Given the description of an element on the screen output the (x, y) to click on. 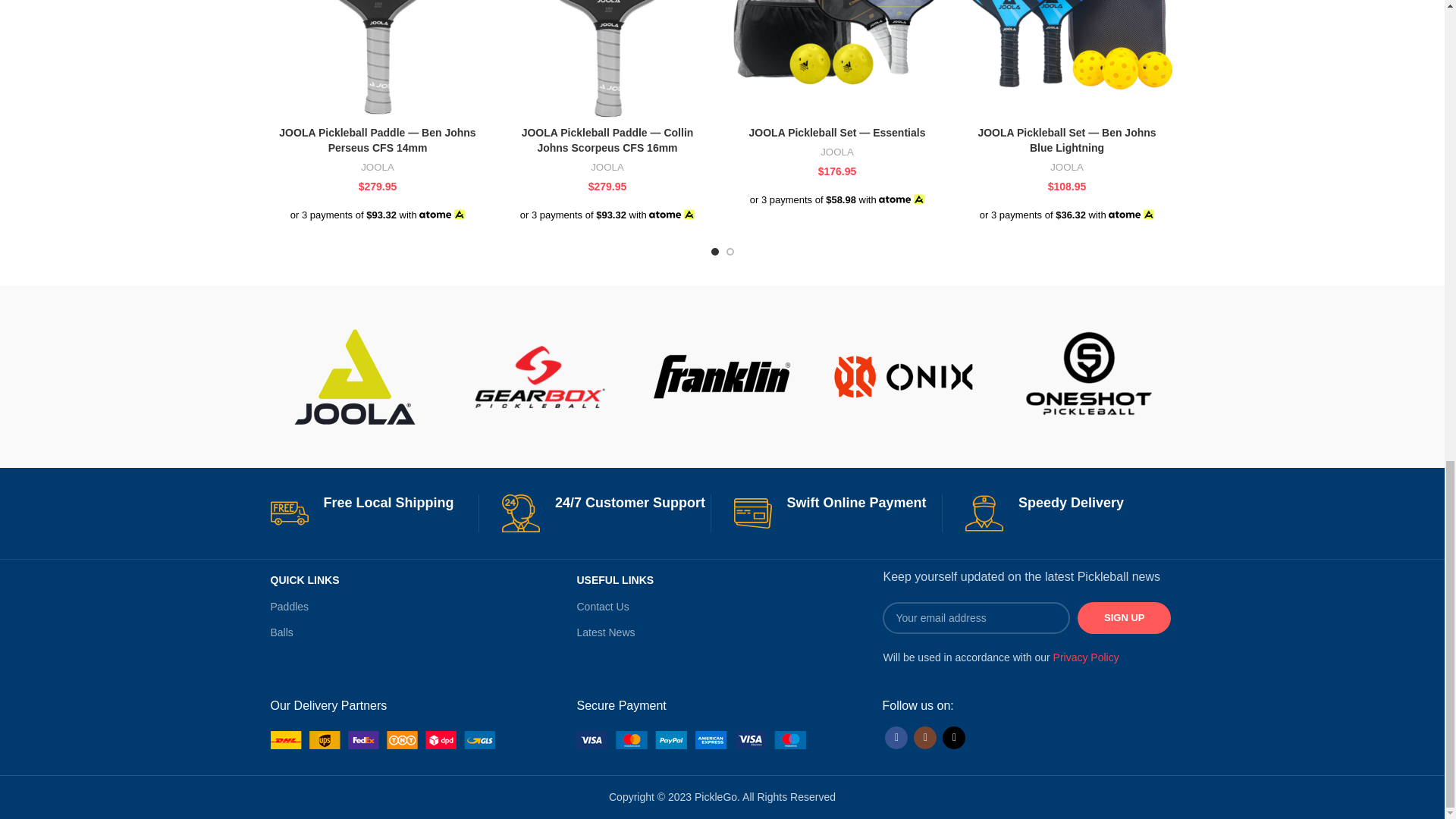
gearbox-logo (538, 376)
retail-free-shipping (288, 513)
Sign up (1123, 617)
joola-logo-brands (354, 376)
franklin-logo (721, 376)
